Given the description of an element on the screen output the (x, y) to click on. 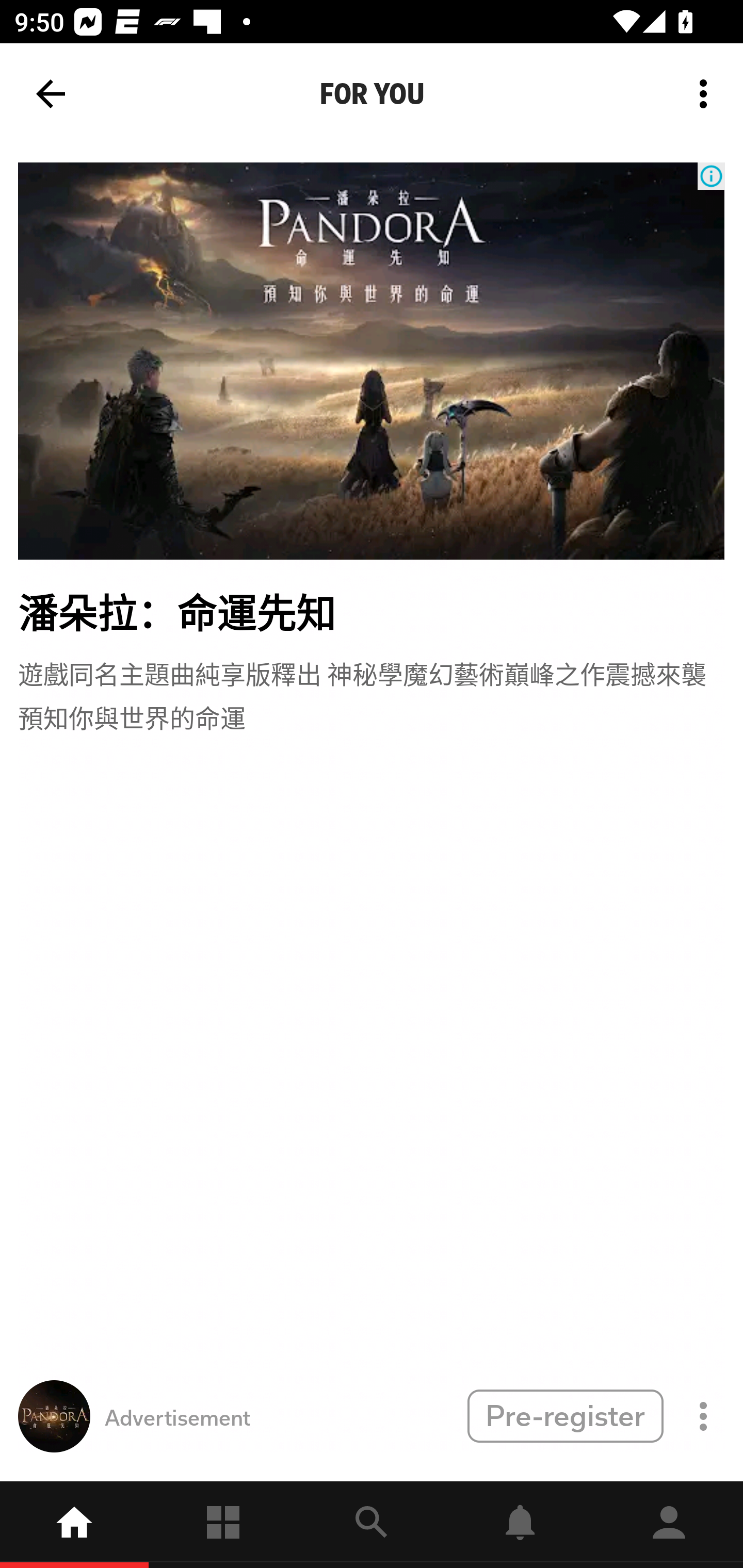
Back (50, 93)
FOR YOU (371, 93)
More options (706, 93)
Ad Choices Icon (711, 176)
遊戲同名主題曲純享版釋出 神秘學魔幻藝術巔峰之作震撼來襲 預知你與世界的命運 (371, 694)
Pre-register (565, 1415)
home (74, 1524)
Following (222, 1524)
explore (371, 1524)
Notifications (519, 1524)
Profile (668, 1524)
